Given the description of an element on the screen output the (x, y) to click on. 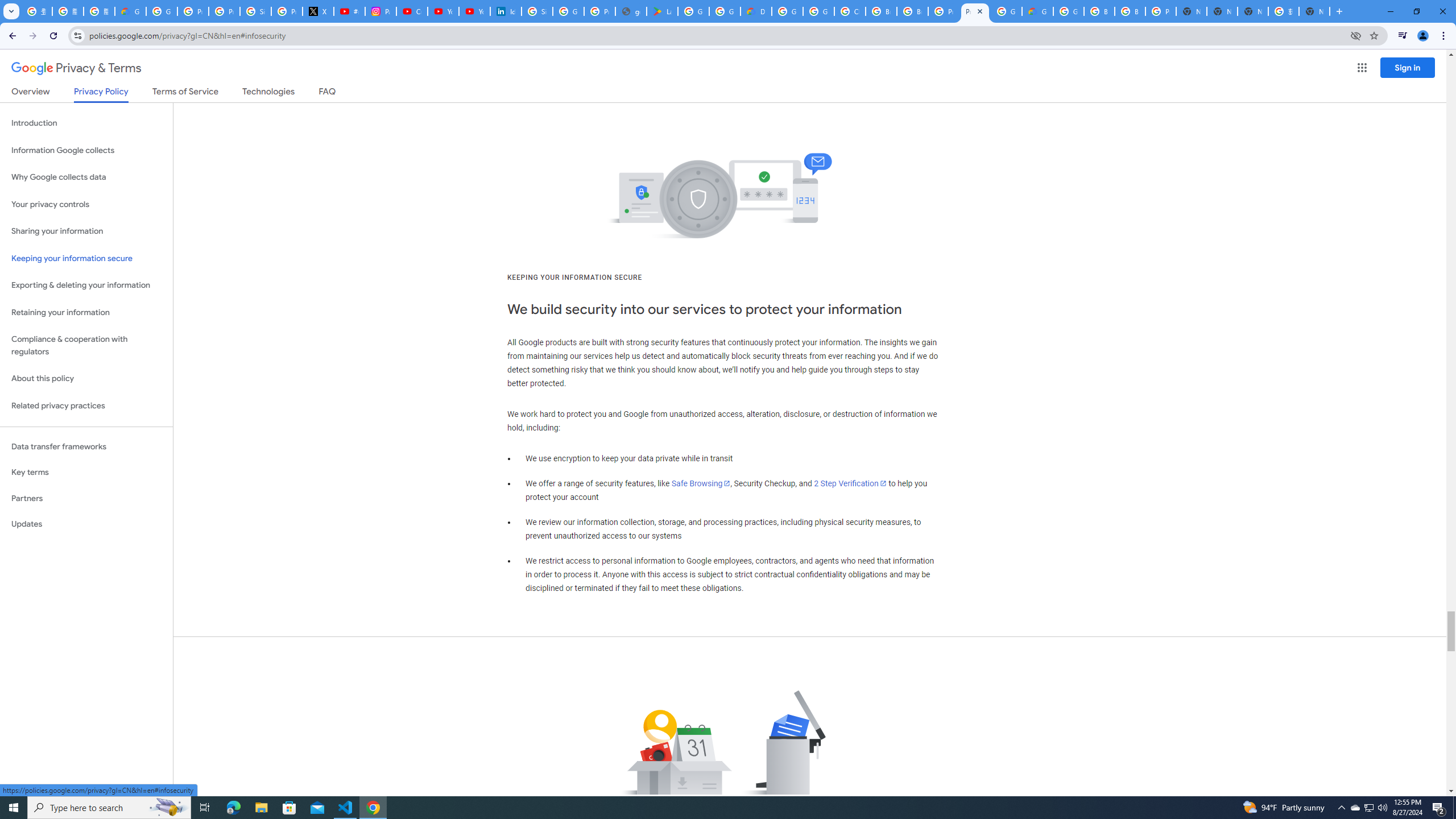
Browse Chrome as a guest - Computer - Google Chrome Help (1098, 11)
Sign in - Google Accounts (255, 11)
Google Workspace - Specific Terms (724, 11)
YouTube Culture & Trends - YouTube Top 10, 2021 (474, 11)
Information Google collects (86, 150)
